Given the description of an element on the screen output the (x, y) to click on. 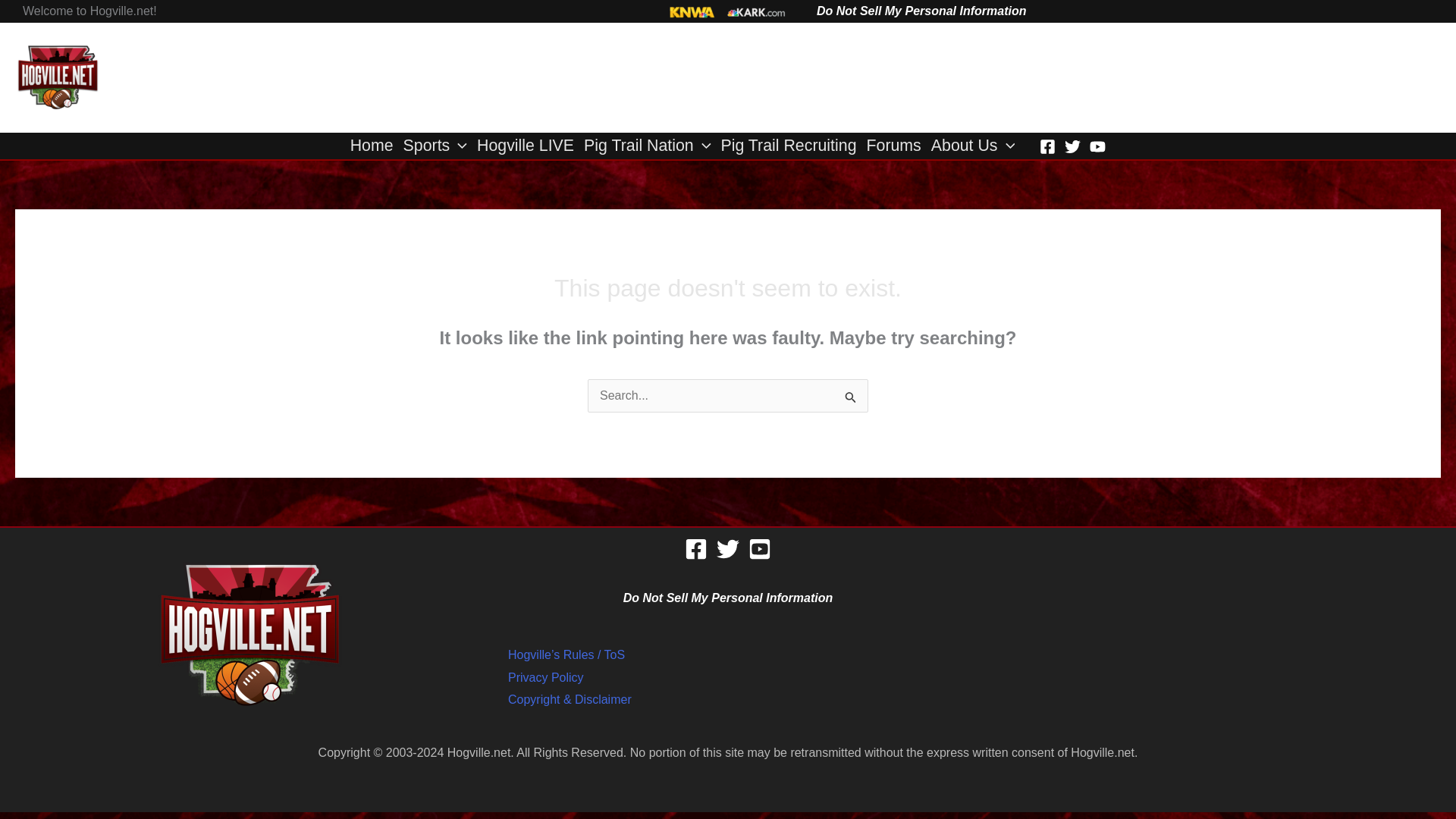
Hogville LIVE (530, 145)
Do Not Sell My Personal Information (921, 10)
Sports (440, 145)
Pig Trail Nation (651, 145)
Forums (898, 145)
Home (376, 145)
About Us (978, 145)
Pig Trail Recruiting (793, 145)
